Given the description of an element on the screen output the (x, y) to click on. 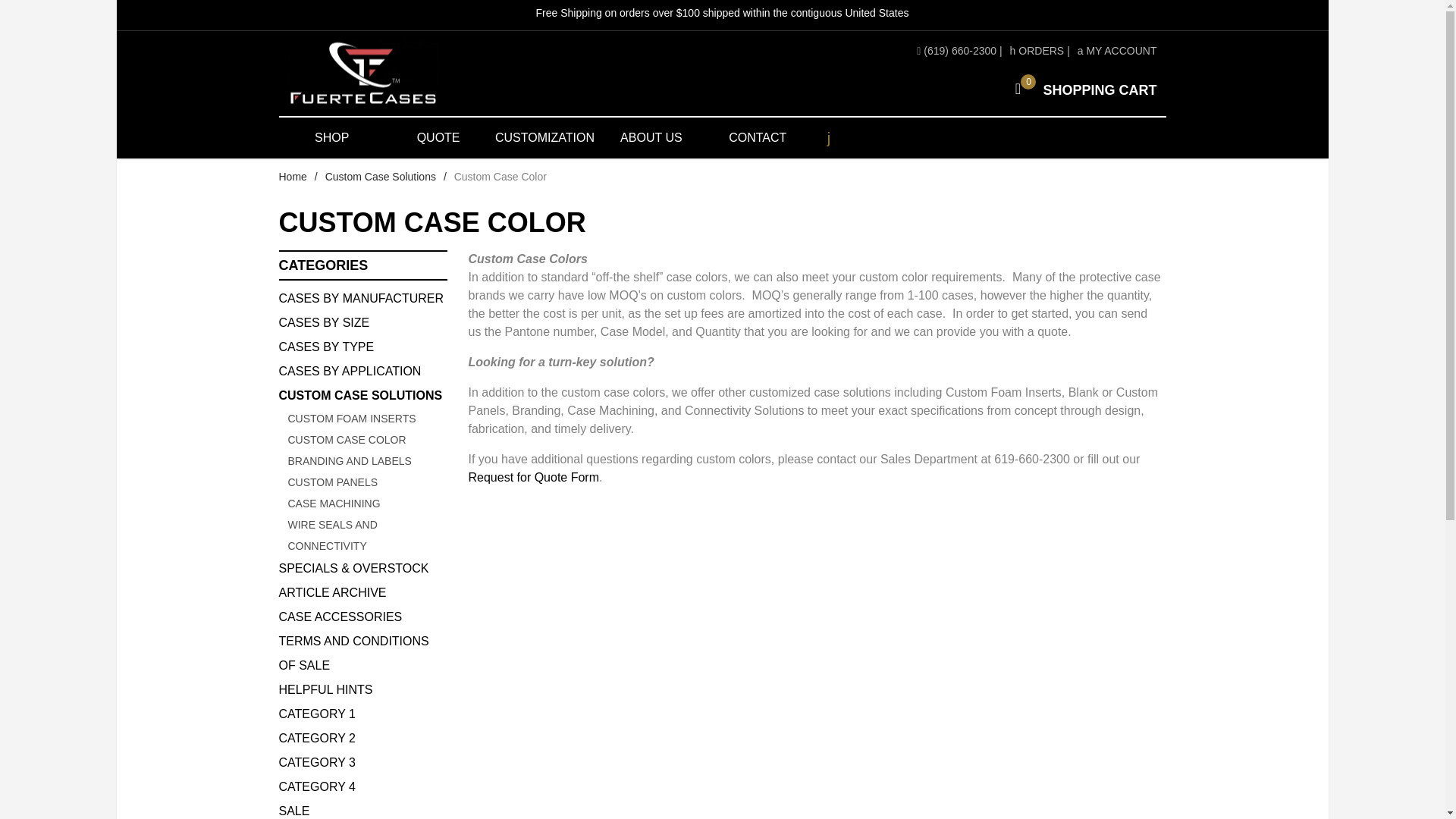
Branding and Labels (367, 460)
Custom Foam Inserts (367, 418)
Case Accessories (362, 617)
Article Archive (362, 592)
MY ACCOUNT (1117, 50)
Custom Panels (367, 482)
Cases by Application (362, 371)
SHOP (332, 137)
Custom Case Solutions (379, 176)
FuerteCases.com (1081, 89)
ORDERS (427, 73)
Wire Seals and Connectivity (1037, 50)
Cases by Type (367, 535)
Case Machining (362, 346)
